Given the description of an element on the screen output the (x, y) to click on. 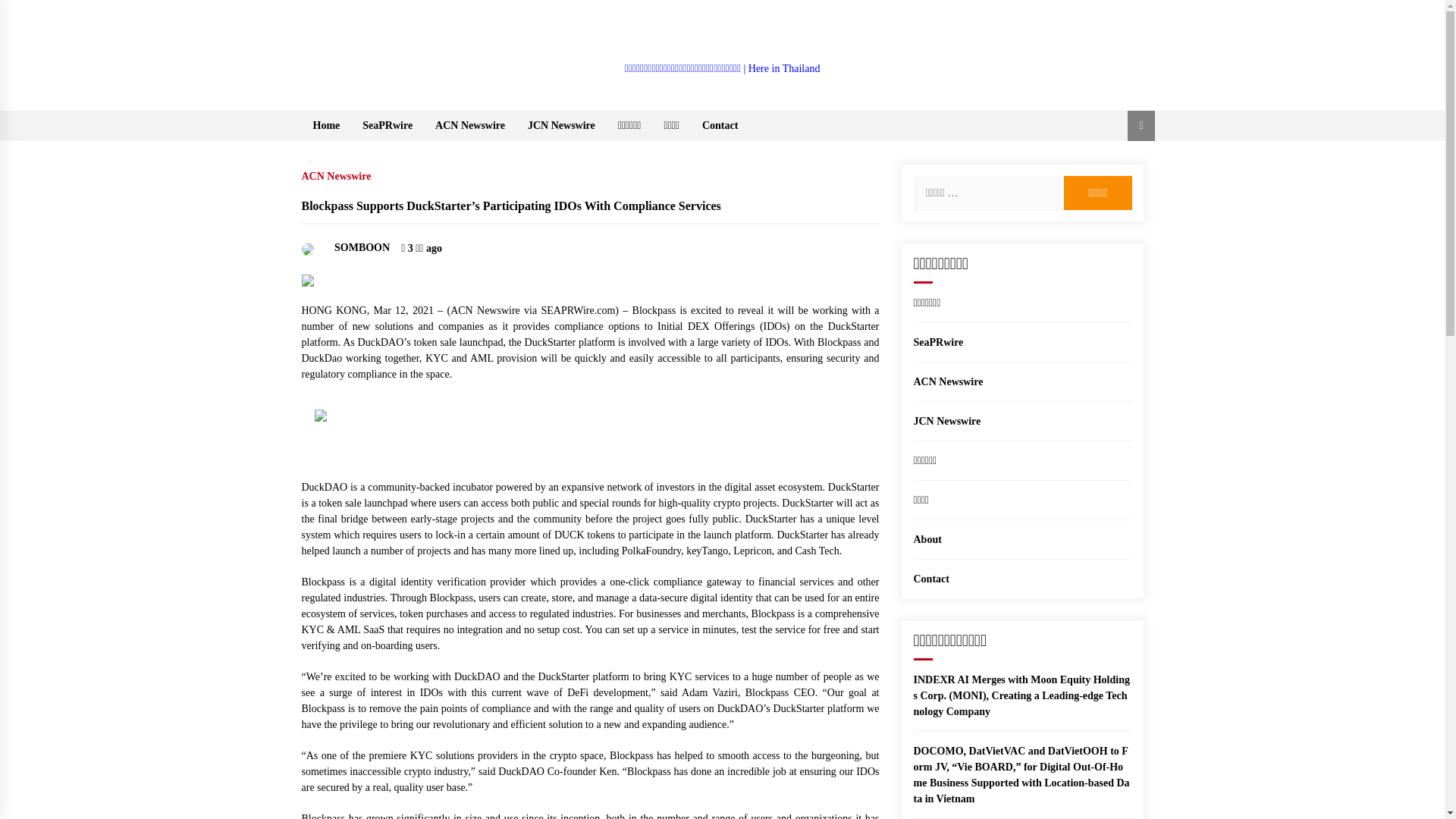
JCN Newswire (945, 420)
About (926, 539)
SeaPRwire (386, 125)
Contact (930, 578)
Contact (719, 125)
SeaPRwire (937, 342)
JCN Newswire (561, 125)
SOMBOON (345, 247)
ACN Newswire (339, 172)
Home (326, 125)
ACN Newswire (469, 125)
ACN Newswire (947, 381)
